Given the description of an element on the screen output the (x, y) to click on. 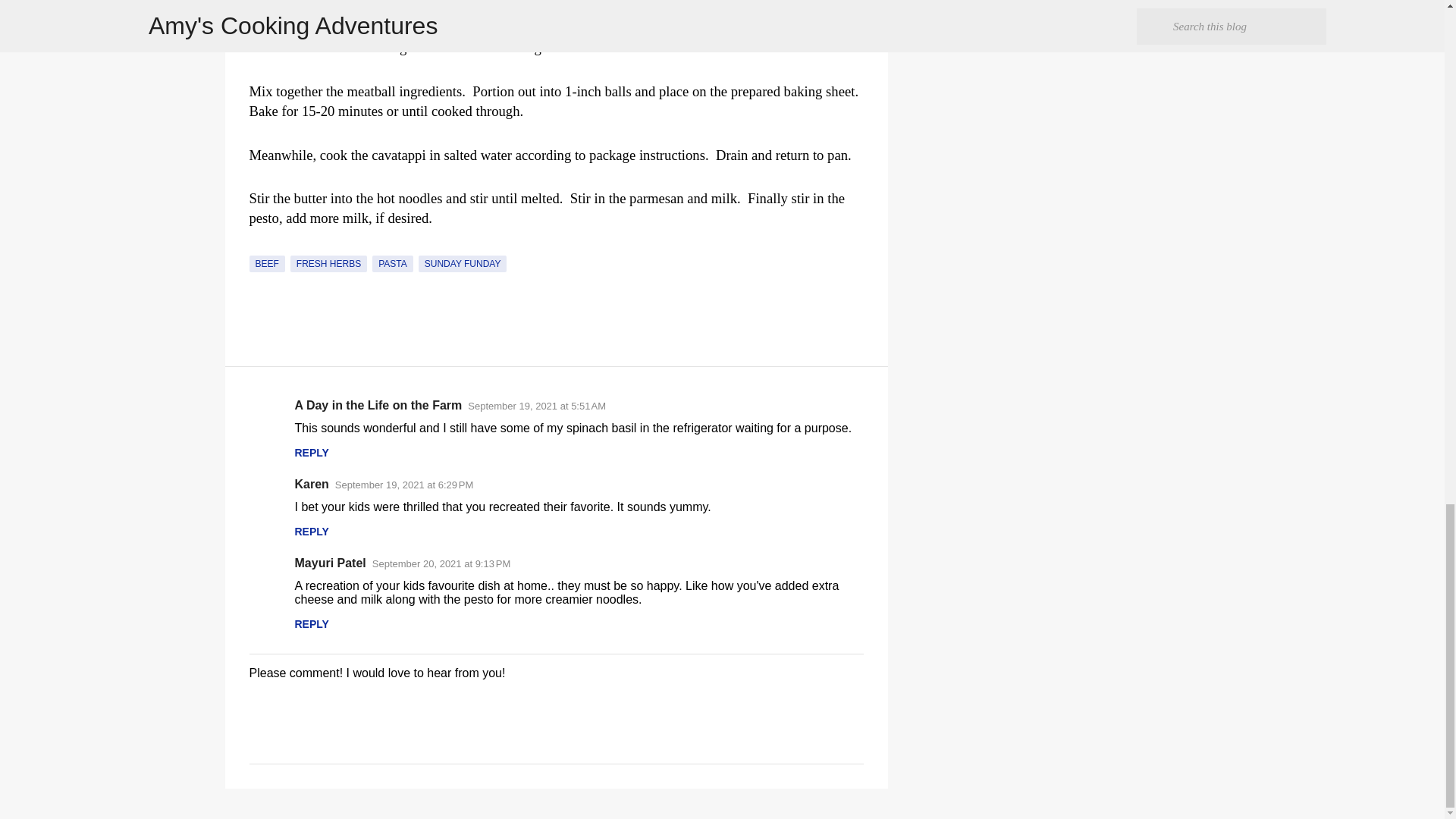
SUNDAY FUNDAY (462, 263)
REPLY (311, 531)
Karen (311, 483)
A Day in the Life on the Farm (377, 404)
PASTA (392, 263)
FRESH HERBS (327, 263)
REPLY (311, 452)
BEEF (265, 263)
